Given the description of an element on the screen output the (x, y) to click on. 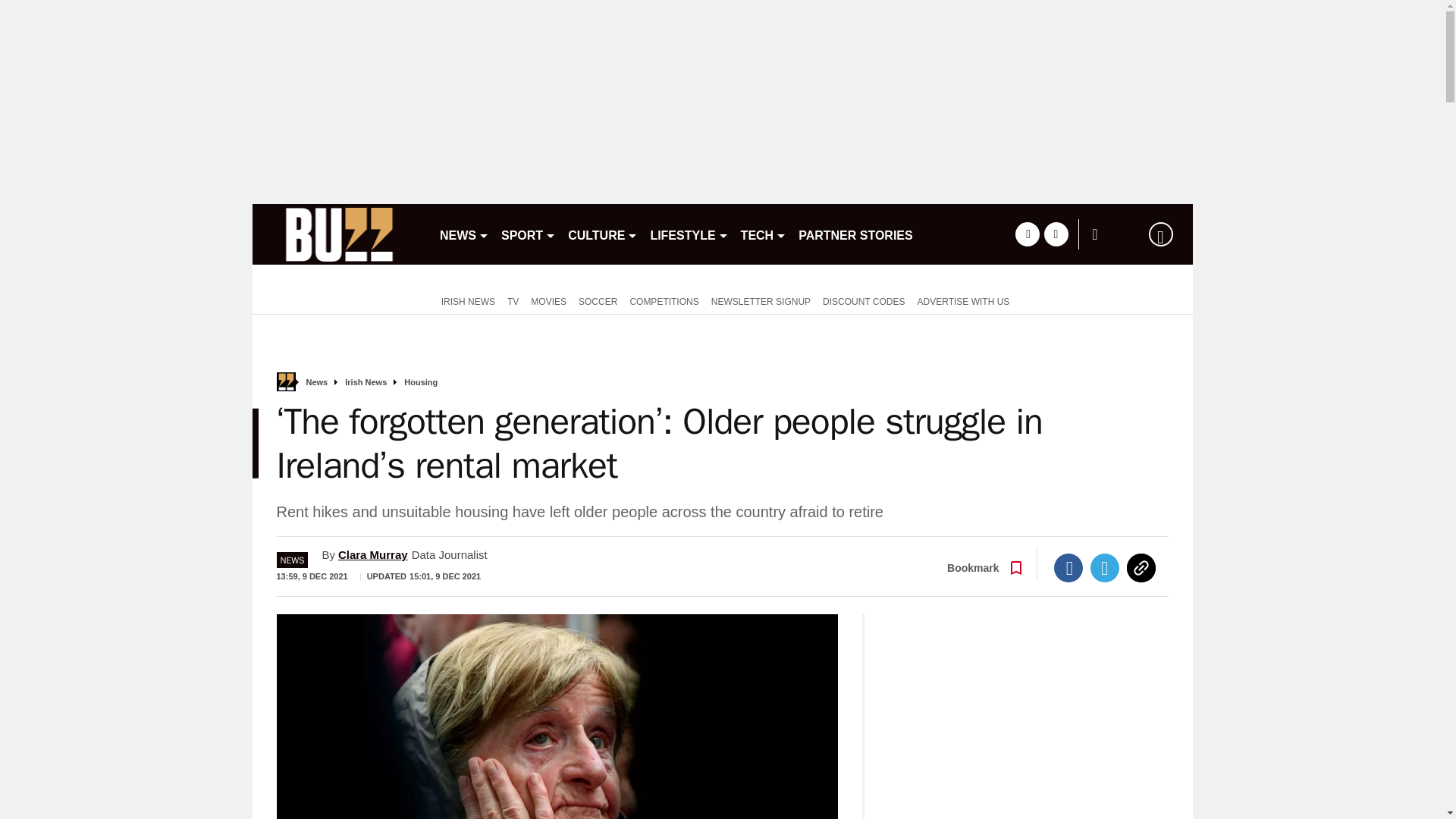
PARTNER STORIES (855, 233)
CULTURE (602, 233)
facebook (1026, 233)
TECH (764, 233)
twitter (1055, 233)
Twitter (1104, 567)
NEWS (464, 233)
Facebook (1068, 567)
SPORT (528, 233)
LIFESTYLE (688, 233)
